Given the description of an element on the screen output the (x, y) to click on. 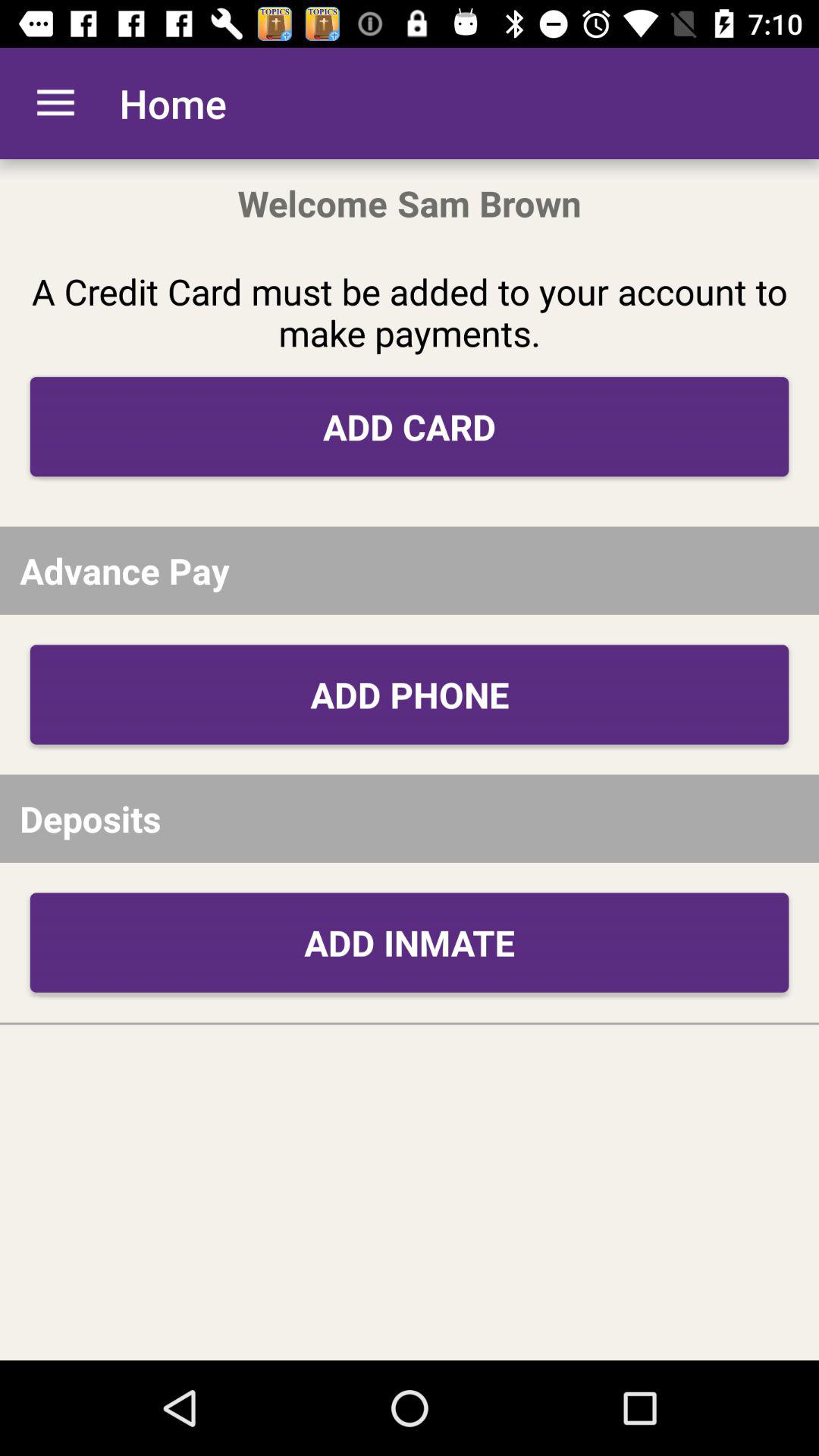
flip to add inmate icon (409, 942)
